Given the description of an element on the screen output the (x, y) to click on. 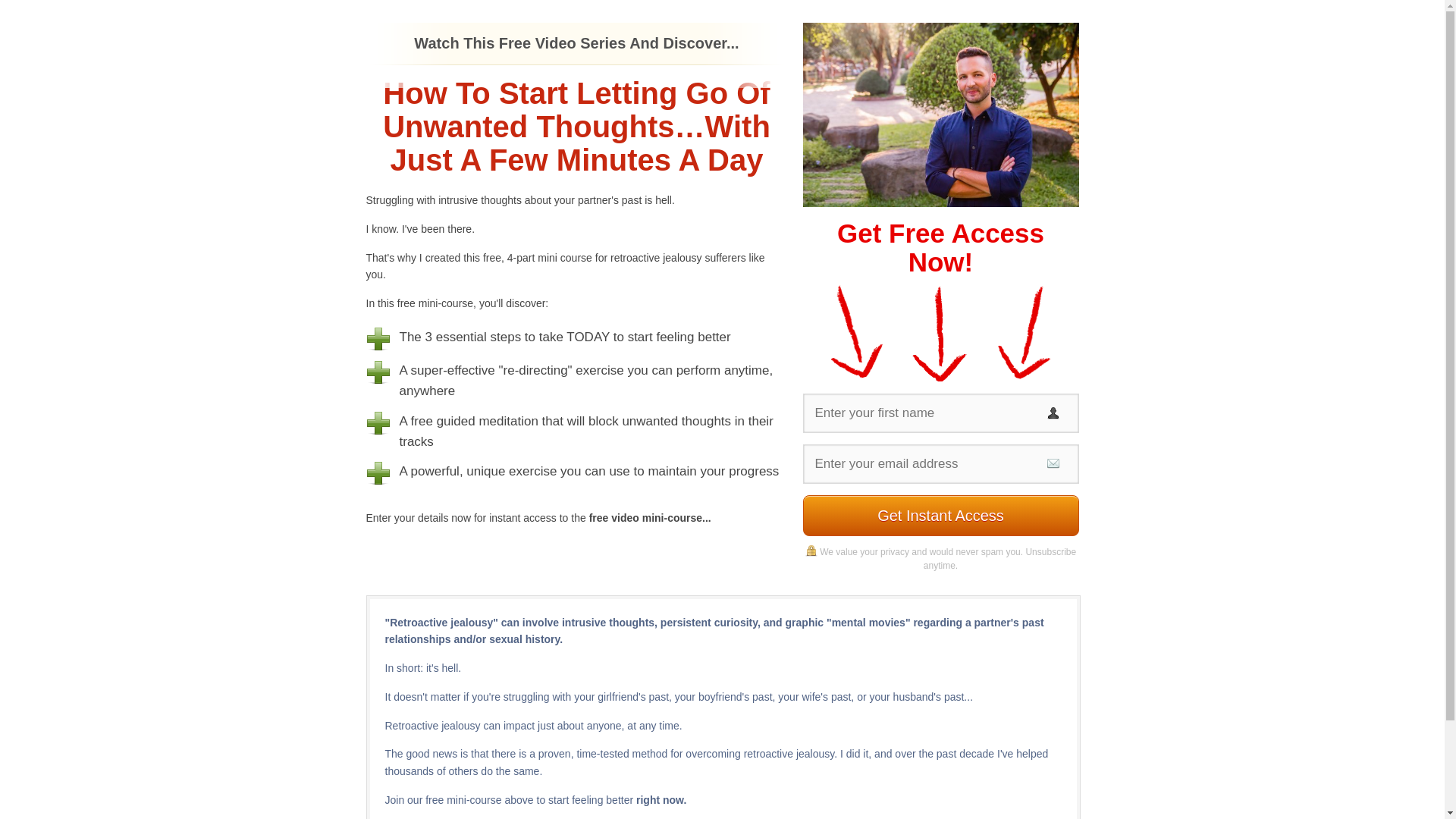
Get Instant Access (940, 515)
